Given the description of an element on the screen output the (x, y) to click on. 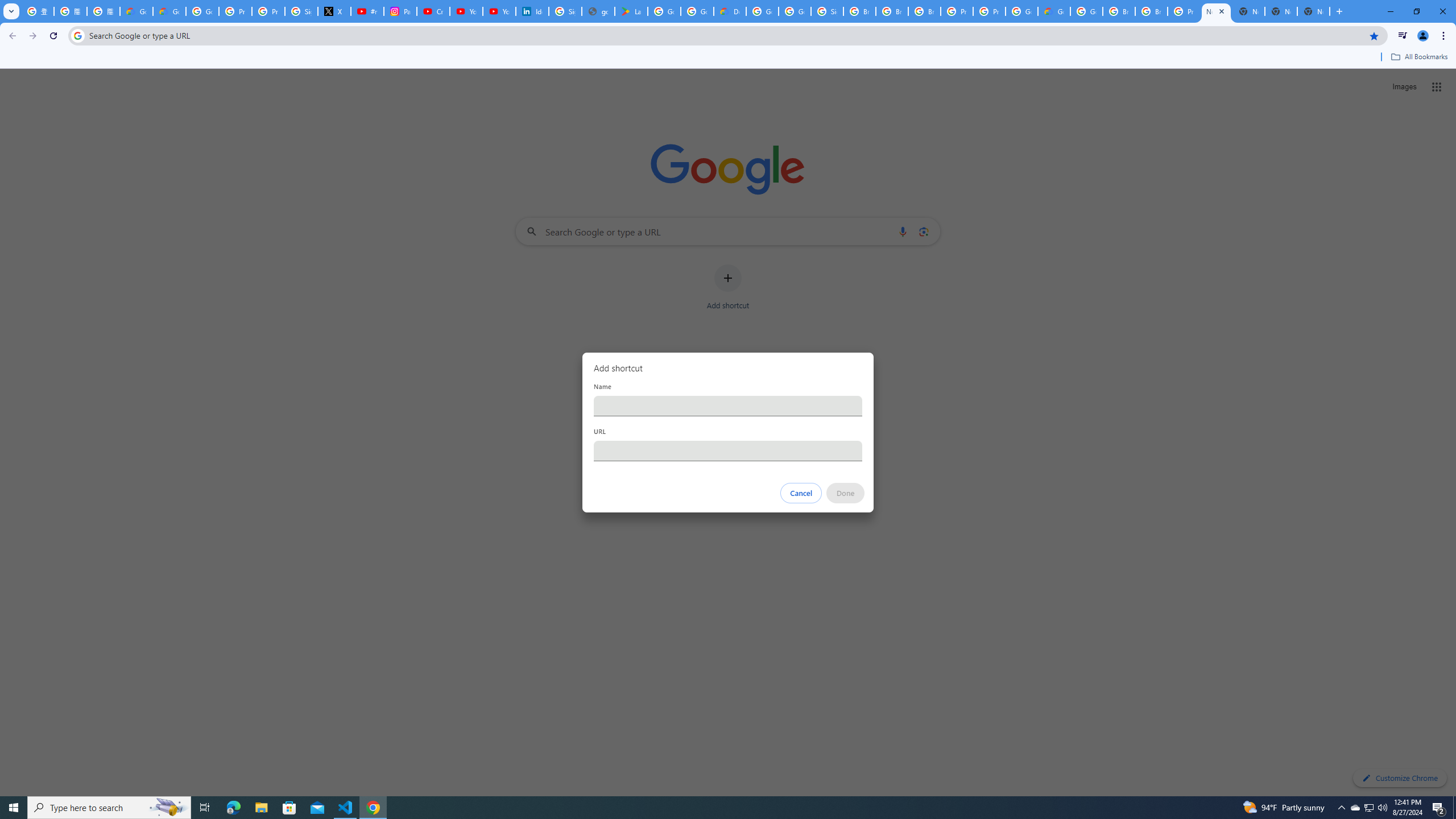
Privacy Help Center - Policies Help (268, 11)
URL (727, 450)
New Tab (1313, 11)
Search icon (77, 35)
google_privacy_policy_en.pdf (598, 11)
Sign in - Google Accounts (301, 11)
Cancel (801, 493)
